Given the description of an element on the screen output the (x, y) to click on. 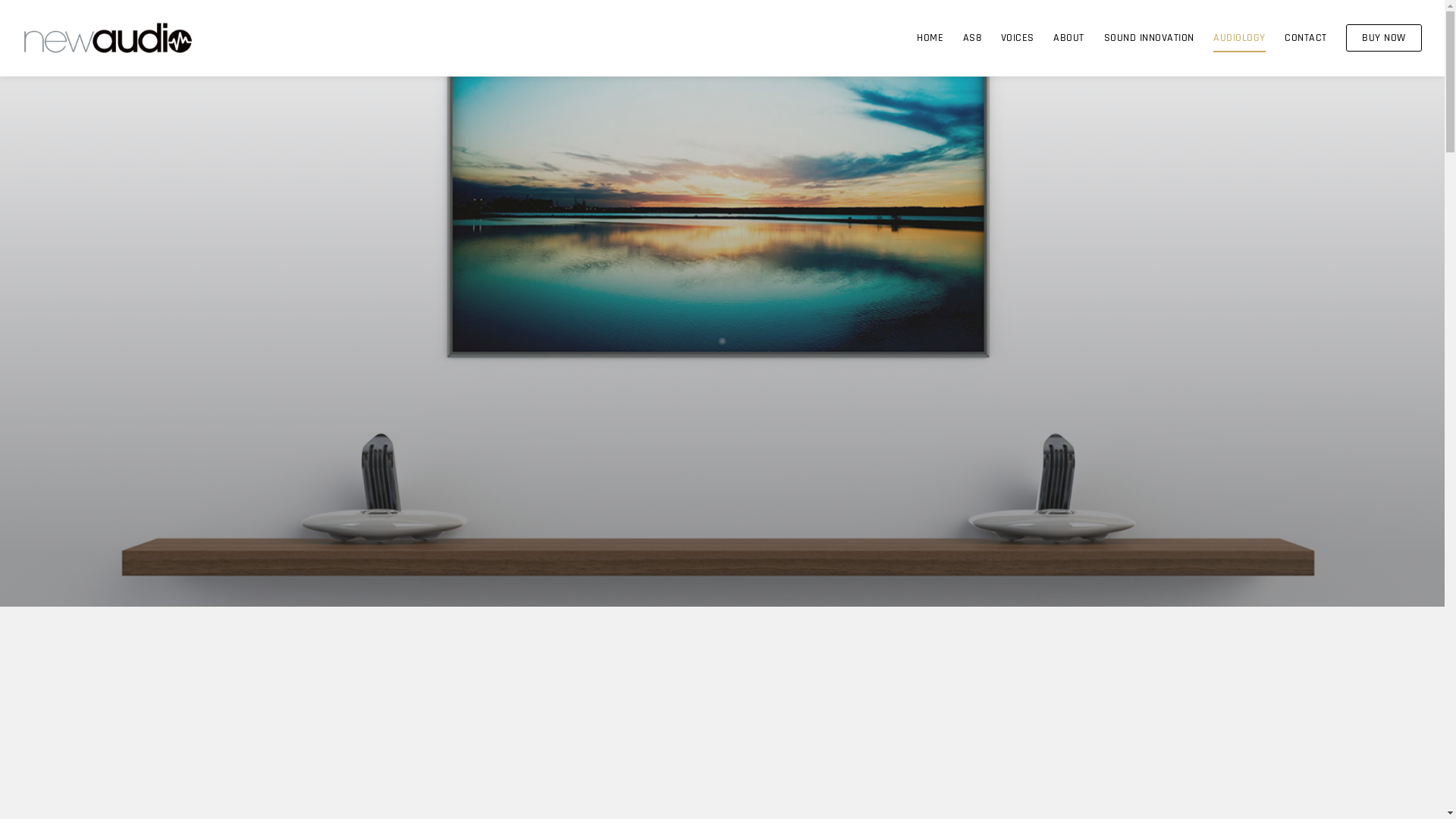
CONTACT Element type: text (1305, 37)
AUDIOLOGY Element type: text (1239, 37)
AS8 Element type: text (972, 37)
SOUND INNOVATION Element type: text (1149, 37)
VOICES Element type: text (1017, 37)
ABOUT Element type: text (1068, 37)
BUY NOW Element type: text (1383, 37)
HOME Element type: text (929, 37)
